Given the description of an element on the screen output the (x, y) to click on. 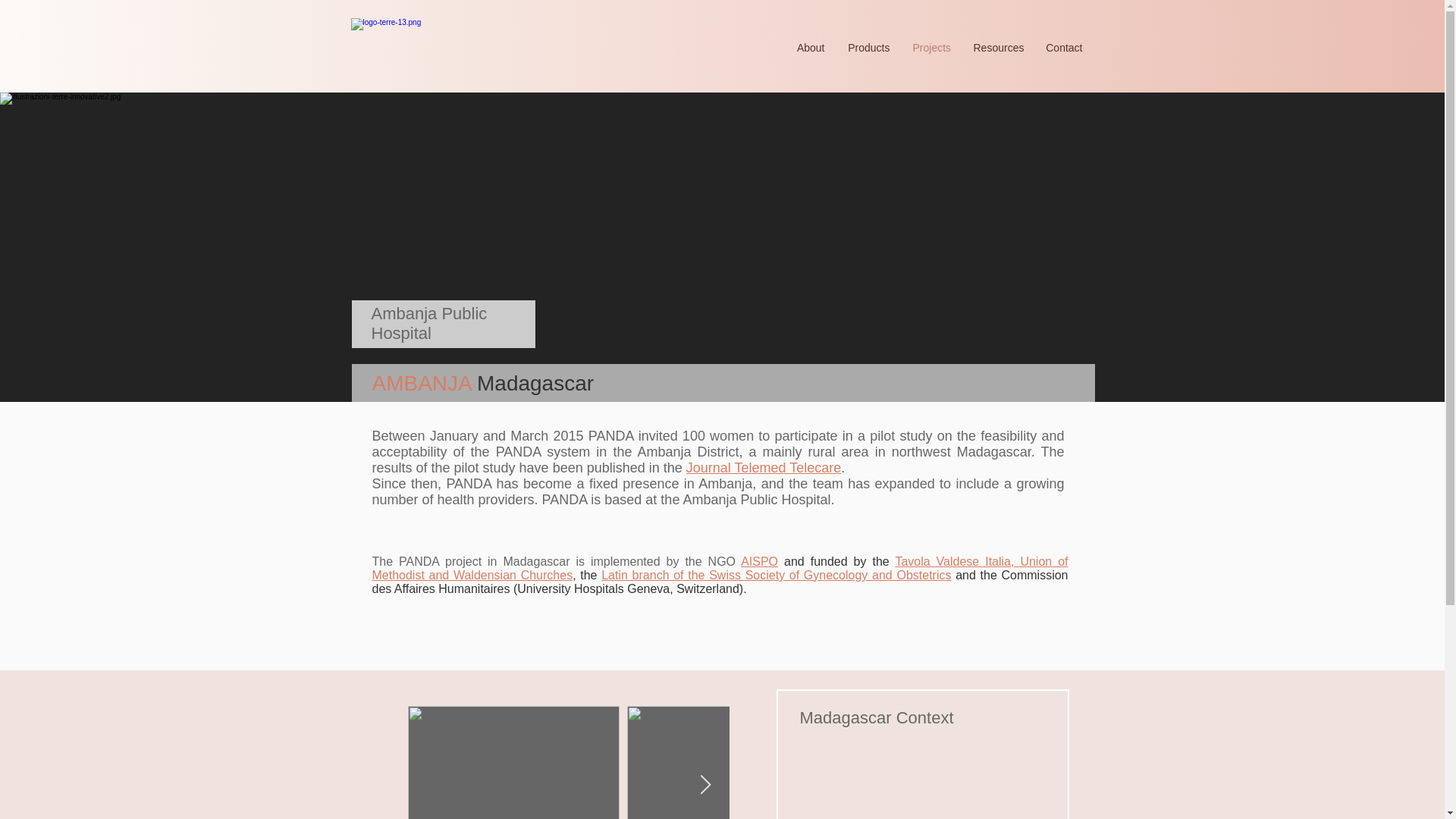
Resources (996, 47)
Products (868, 47)
Journal Telemed Telecare (763, 467)
Contact (1062, 47)
AISPO (759, 561)
About (809, 47)
Projects (930, 47)
